Given the description of an element on the screen output the (x, y) to click on. 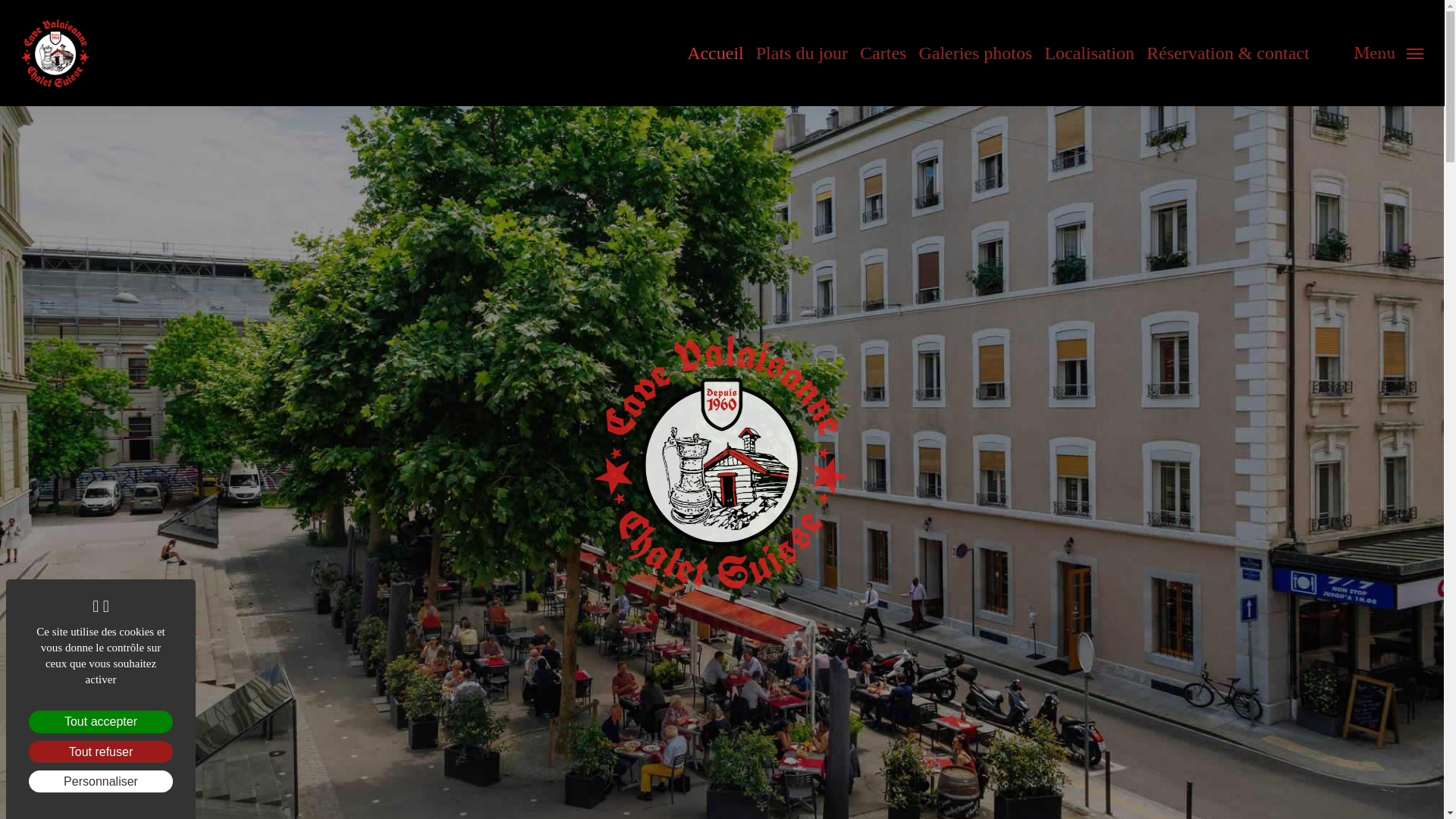
Personnaliser Element type: text (100, 781)
Tout refuser Element type: text (100, 751)
Galeries photos Element type: text (975, 53)
Tout accepter Element type: text (100, 721)
Plats du jour Element type: text (801, 53)
Accueil Element type: text (714, 53)
Menu Element type: text (1388, 53)
Localisation Element type: text (1089, 53)
Cartes Element type: text (882, 53)
